Given the description of an element on the screen output the (x, y) to click on. 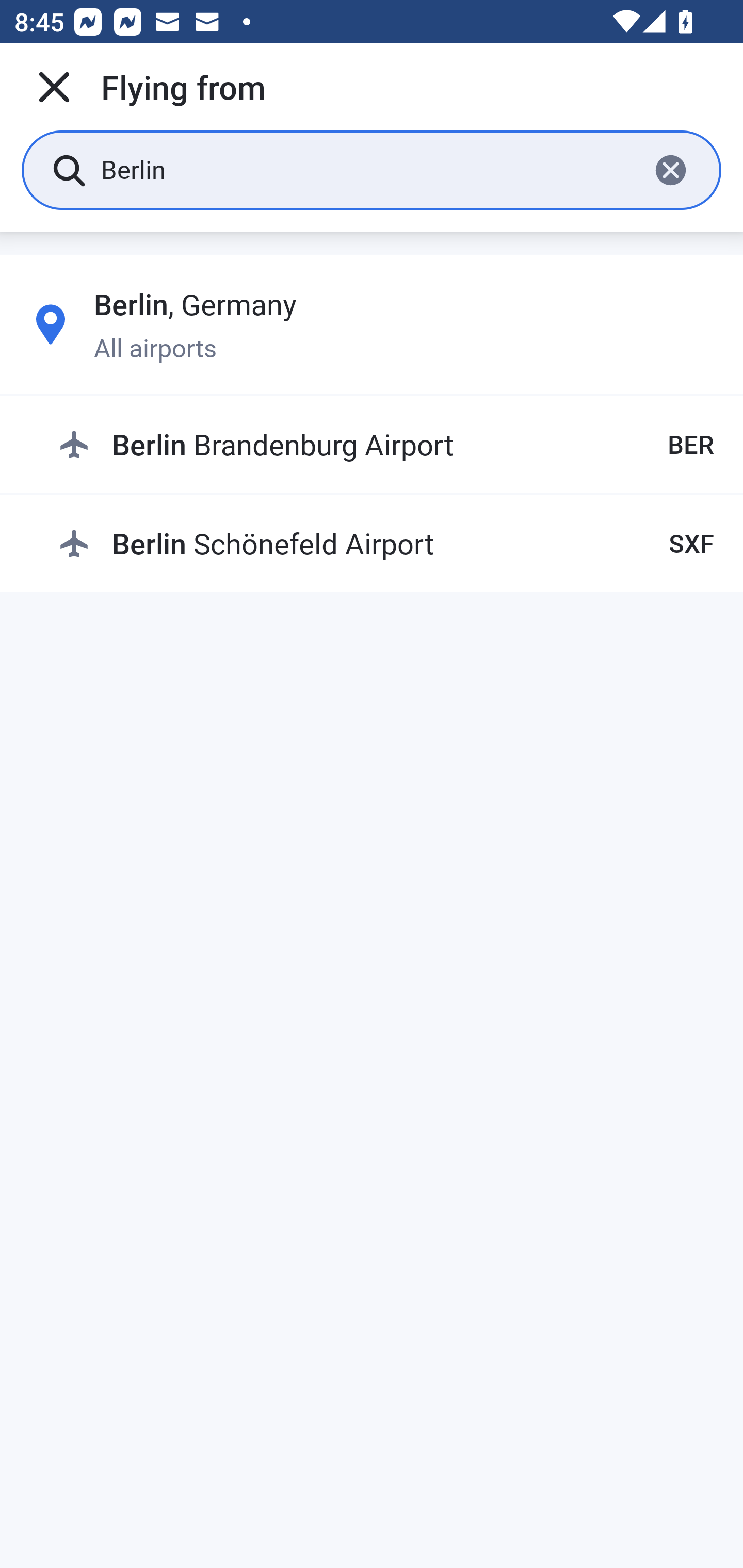
Berlin (367, 169)
Berlin, Germany All airports (371, 324)
Berlin Brandenburg Airport BER (385, 444)
Berlin Schönefeld Airport SXF (385, 543)
